Given the description of an element on the screen output the (x, y) to click on. 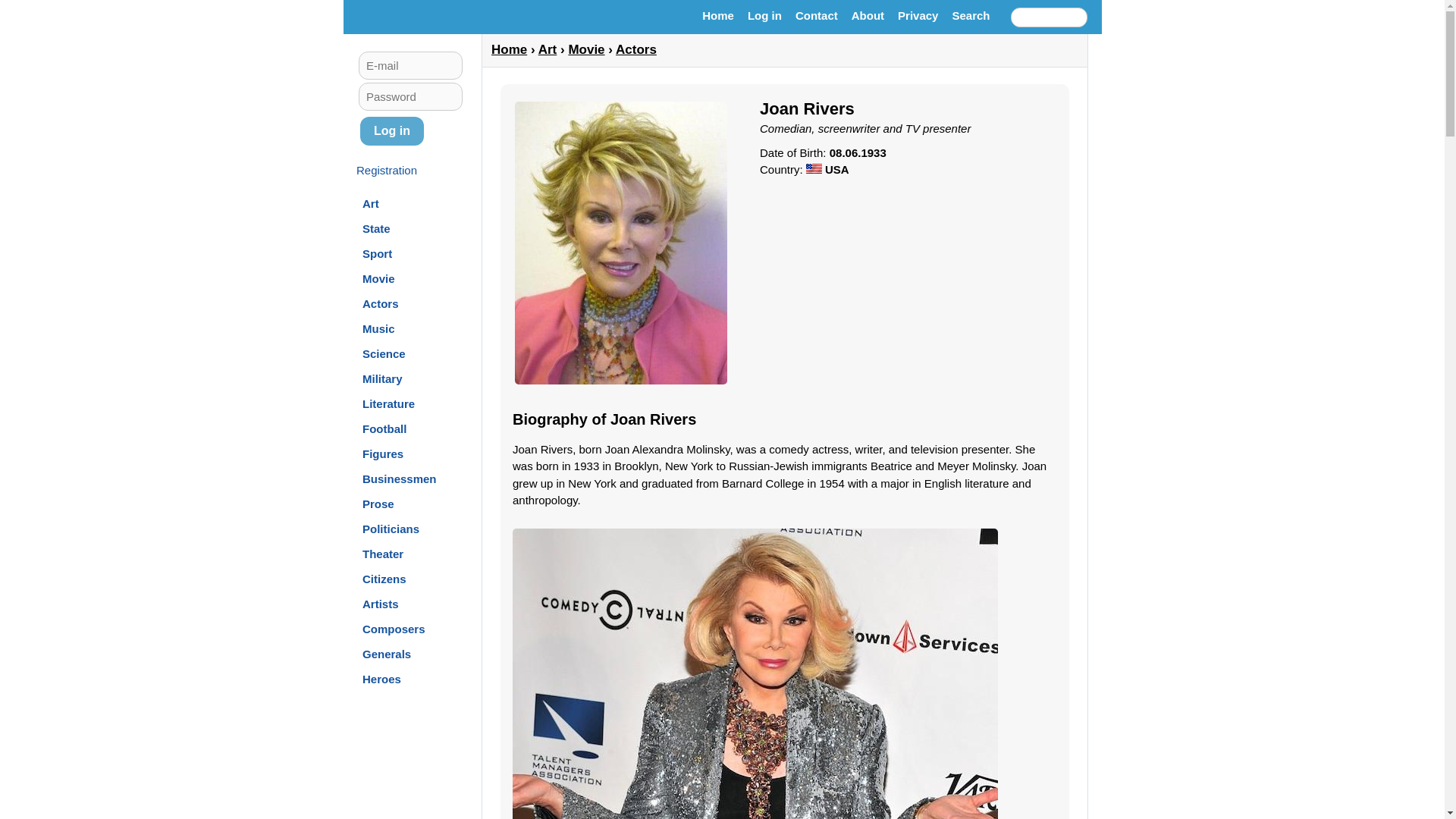
Literature (388, 403)
Science (384, 353)
Movie (585, 49)
Movie (378, 277)
Politicians (390, 527)
State (376, 227)
Businessmen (399, 477)
Artists (380, 603)
Football (384, 427)
Art (370, 203)
Heroes (381, 677)
Citizens (384, 577)
Prose (378, 503)
Actors (380, 303)
Art (370, 203)
